Given the description of an element on the screen output the (x, y) to click on. 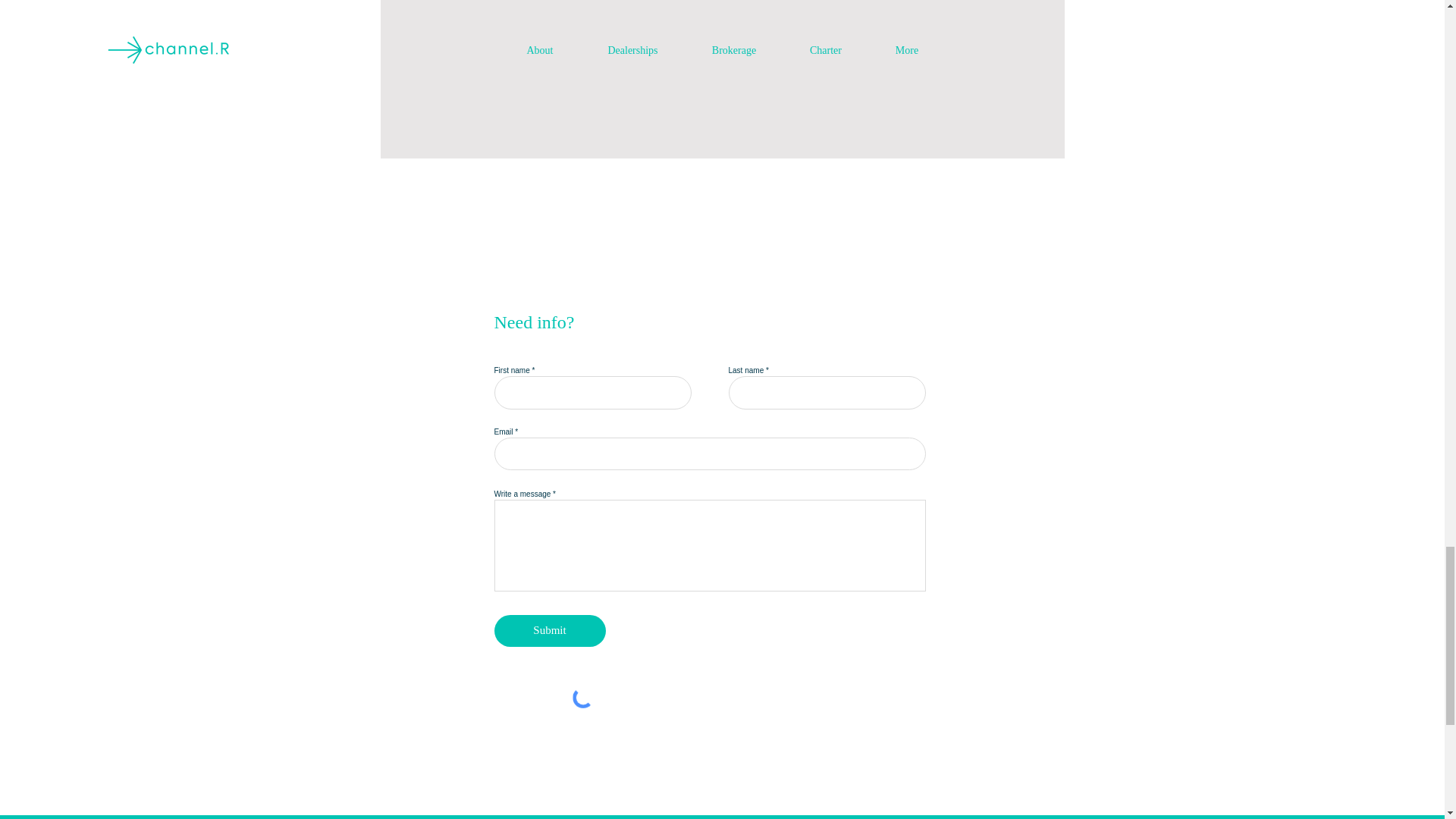
Submit (550, 631)
